Given the description of an element on the screen output the (x, y) to click on. 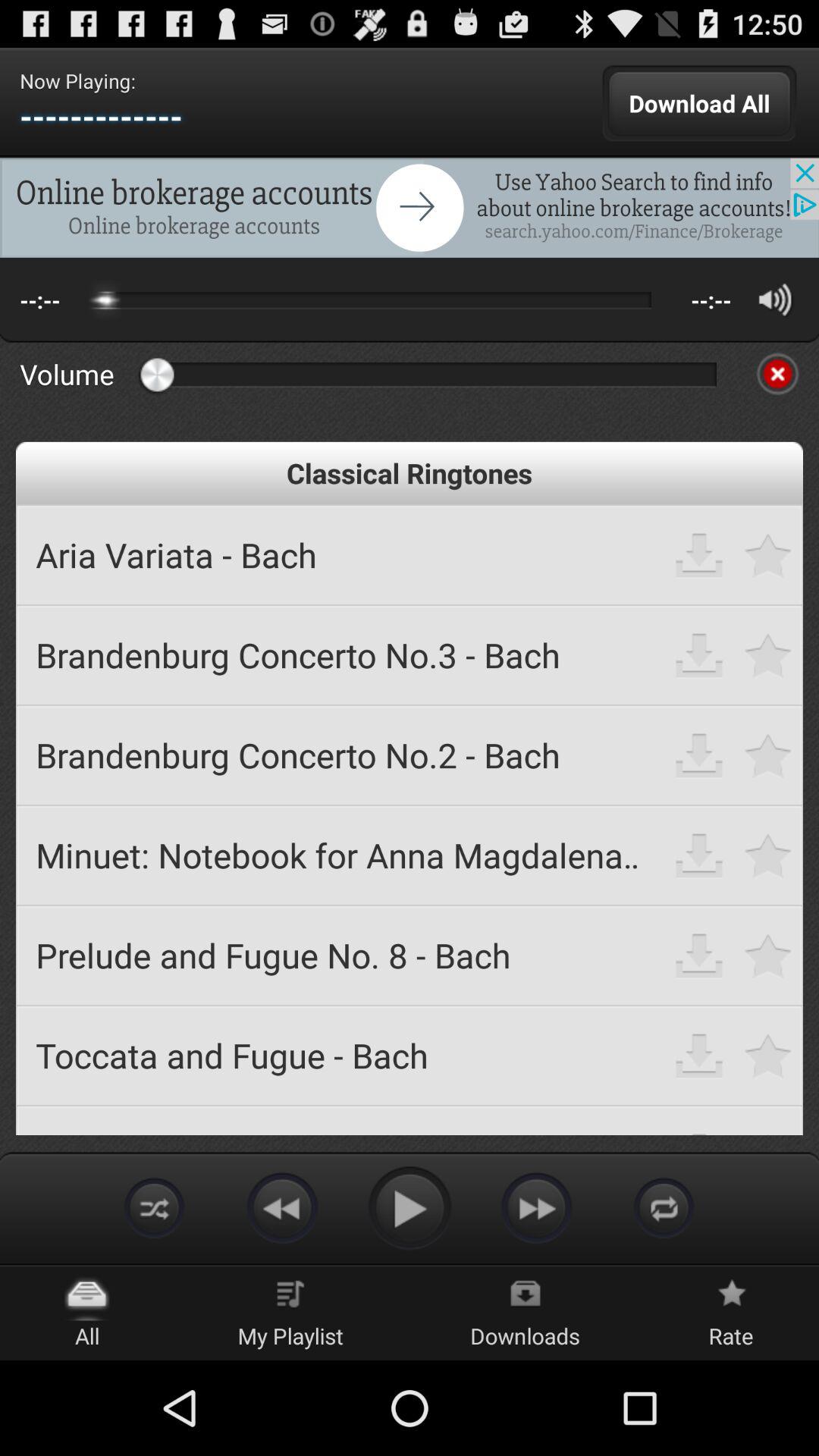
download (699, 1054)
